Given the description of an element on the screen output the (x, y) to click on. 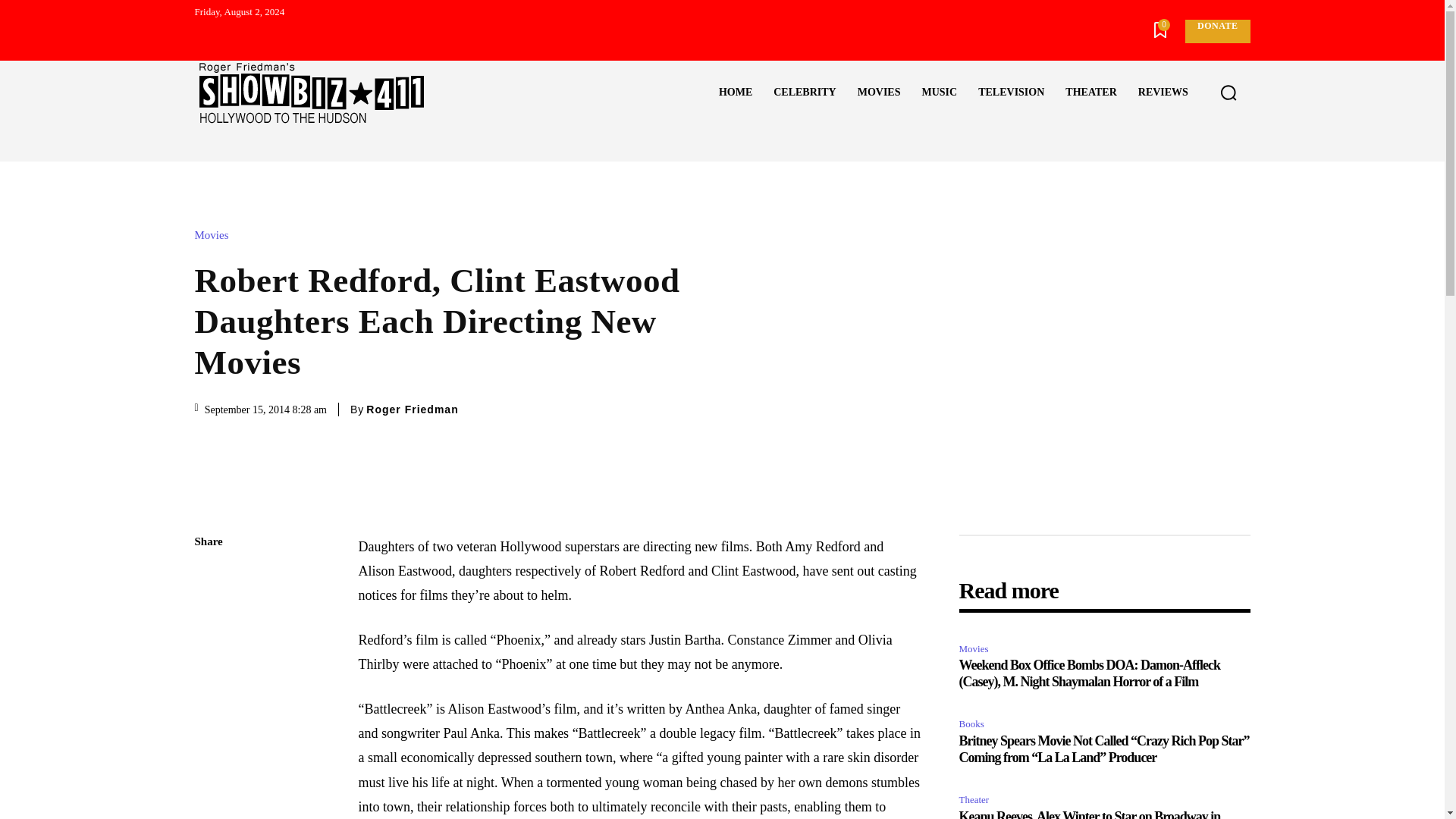
MOVIES (879, 92)
MUSIC (939, 92)
DONATE (1217, 31)
TELEVISION (1011, 92)
Movies (214, 235)
HOME (734, 92)
Donate (1217, 31)
CELEBRITY (803, 92)
THEATER (1090, 92)
REVIEWS (1162, 92)
